Given the description of an element on the screen output the (x, y) to click on. 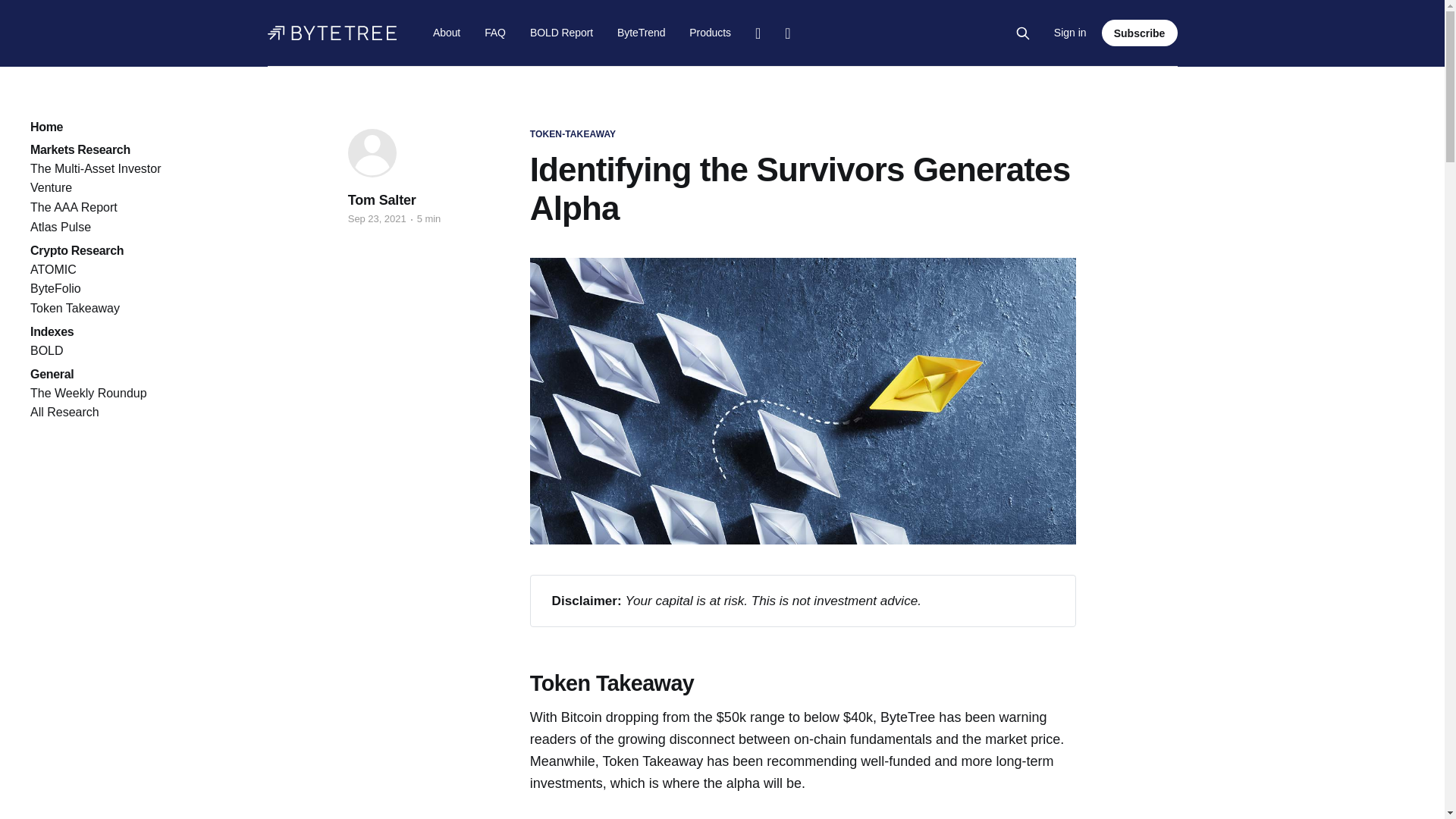
FAQ (494, 32)
Token Takeaway (74, 308)
Subscribe (1139, 32)
All Research (64, 411)
The Multi-Asset Investor (95, 168)
The Weekly Roundup (88, 392)
Atlas Pulse (60, 226)
About (446, 32)
Home (95, 124)
TOKEN-TAKEAWAY (572, 134)
ATOMIC (53, 269)
Tom Salter (381, 199)
ByteTrend (641, 32)
Venture (50, 187)
BOLD Report (560, 32)
